Given the description of an element on the screen output the (x, y) to click on. 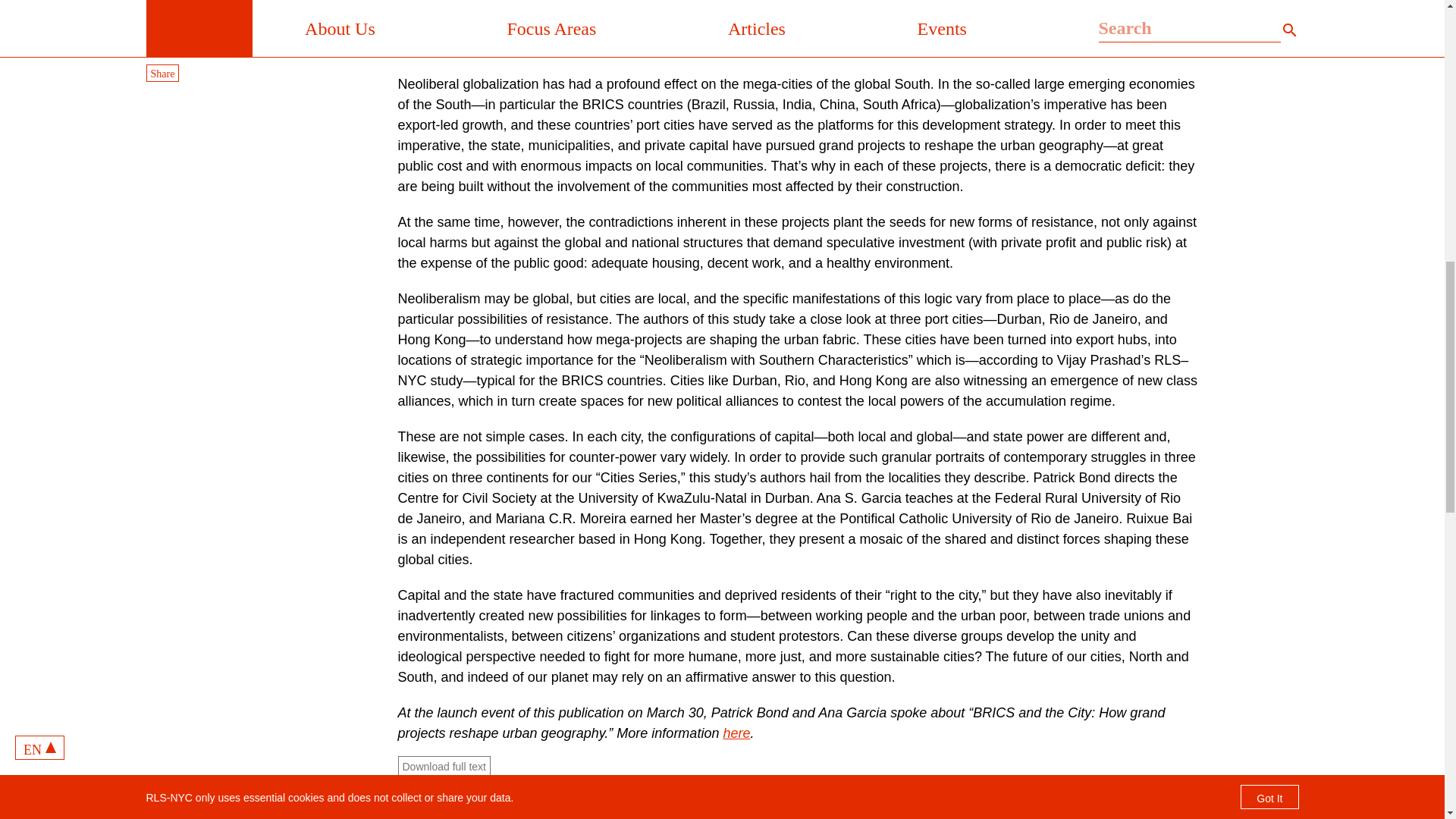
here (735, 733)
Download full text (443, 765)
Global Solidarity (188, 47)
